Given the description of an element on the screen output the (x, y) to click on. 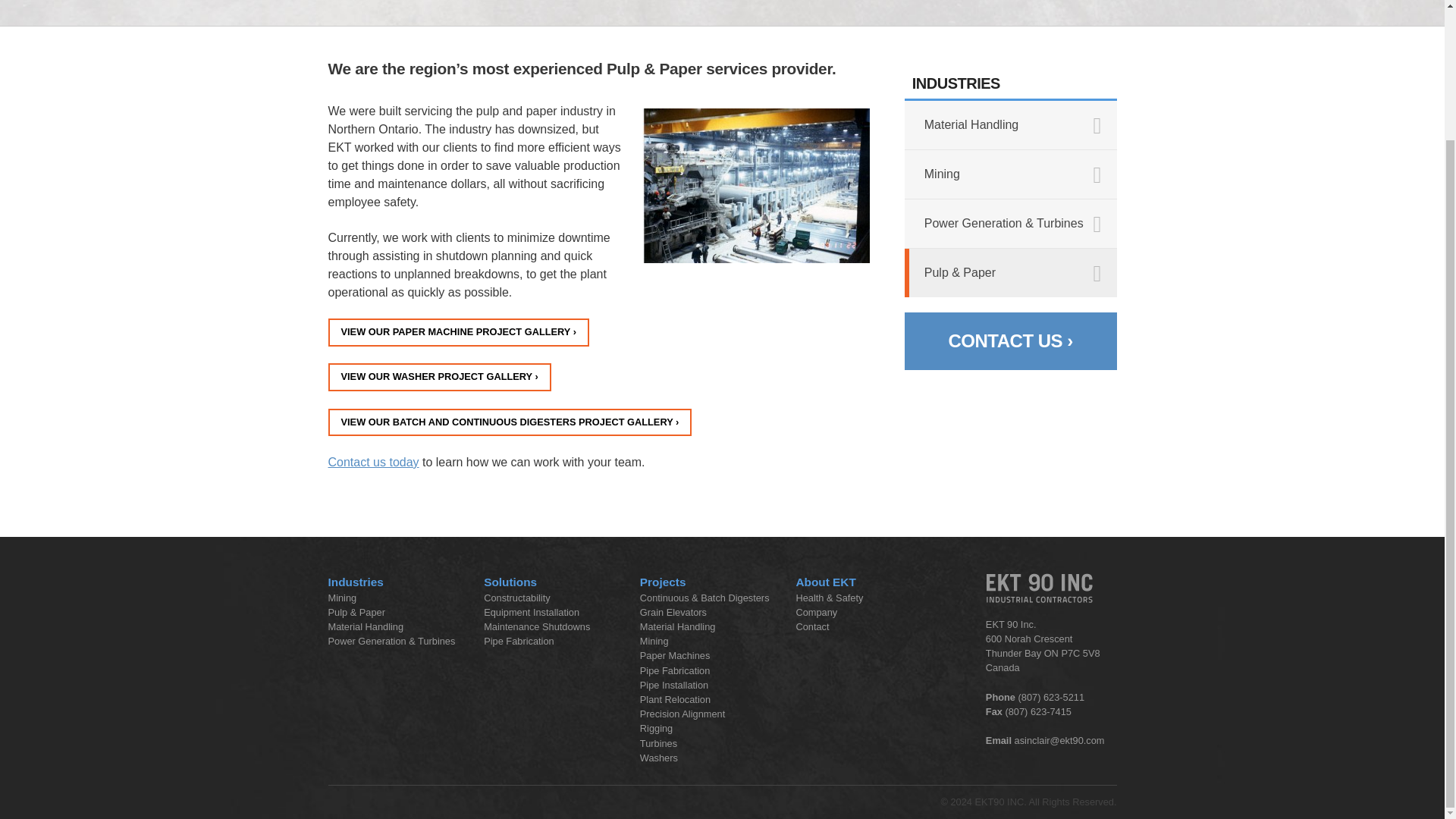
Batch Digesters (509, 422)
Material Handling (1010, 124)
Washers (438, 377)
Paper Machines (457, 332)
Contact us today (373, 461)
Industries (354, 581)
Mining (341, 597)
Mining (1010, 174)
